Given the description of an element on the screen output the (x, y) to click on. 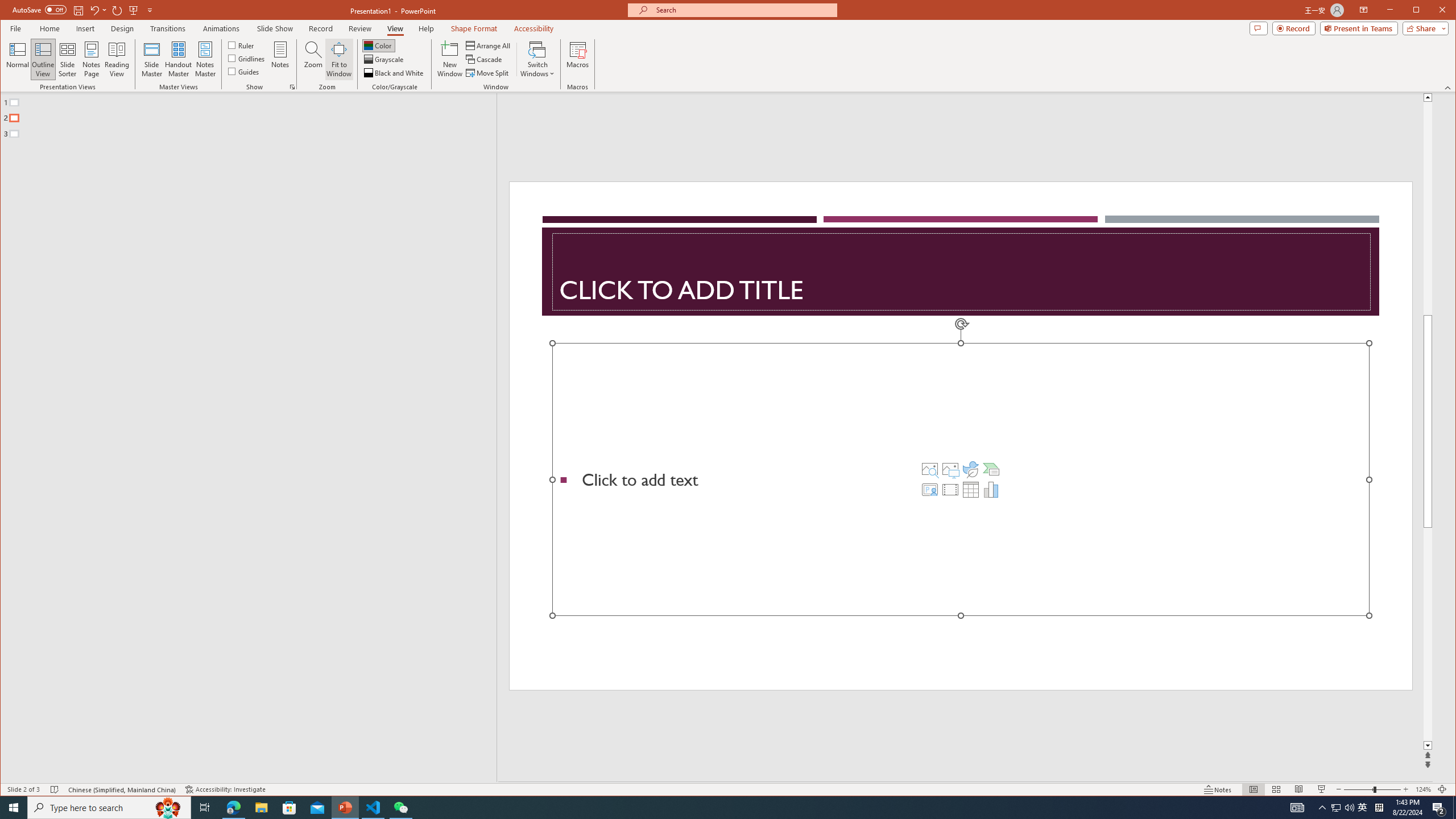
Stock Images (929, 469)
Outline View (42, 59)
Content Placeholder (960, 479)
Notes (279, 59)
Fit to Window (338, 59)
